Given the description of an element on the screen output the (x, y) to click on. 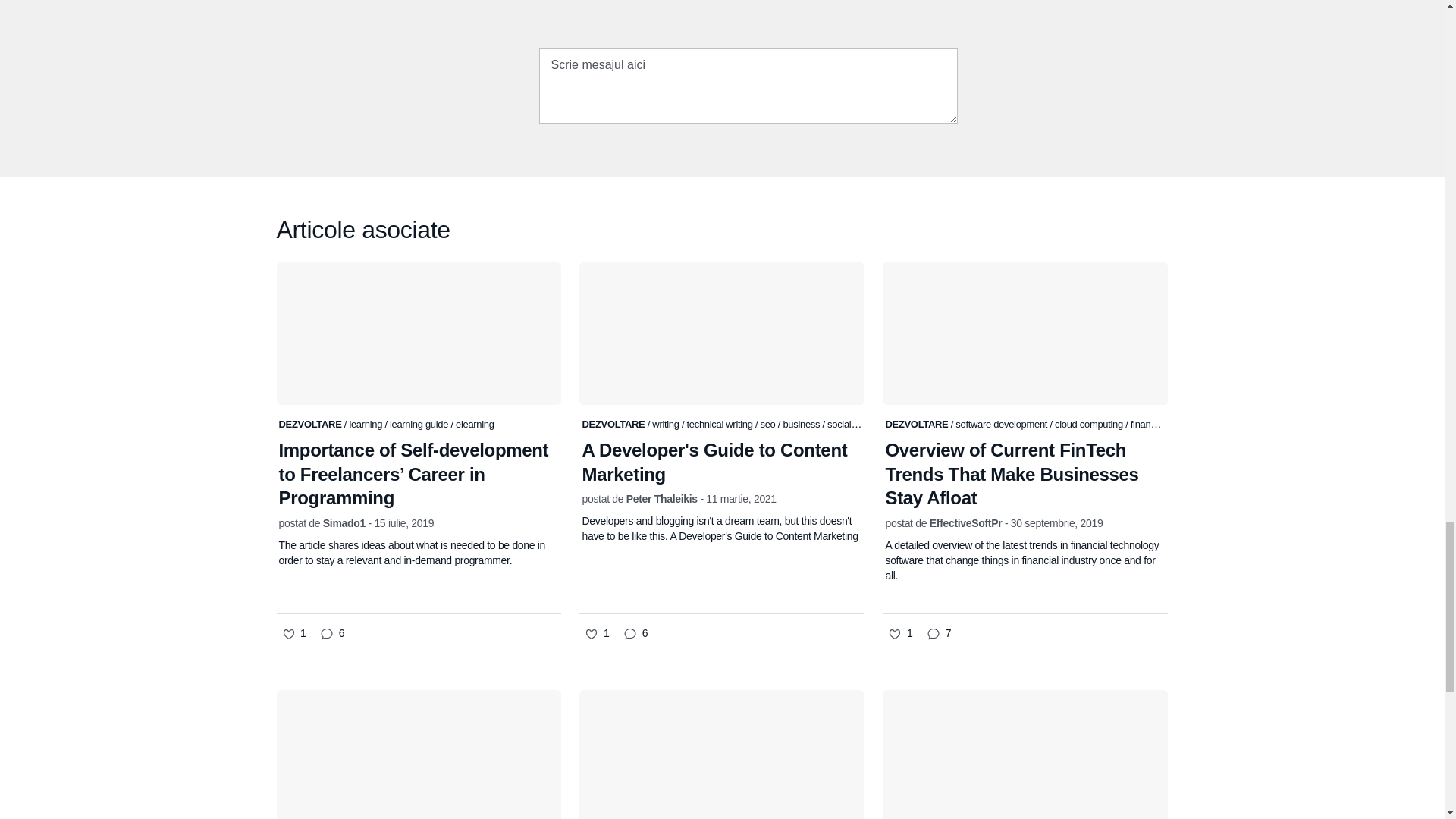
DEZVOLTARE (311, 423)
DEZVOLTARE (613, 423)
learning guide (420, 423)
6 (332, 633)
learning (366, 423)
Simado1 (344, 522)
writing (666, 423)
1 (293, 633)
elearning (475, 423)
